Given the description of an element on the screen output the (x, y) to click on. 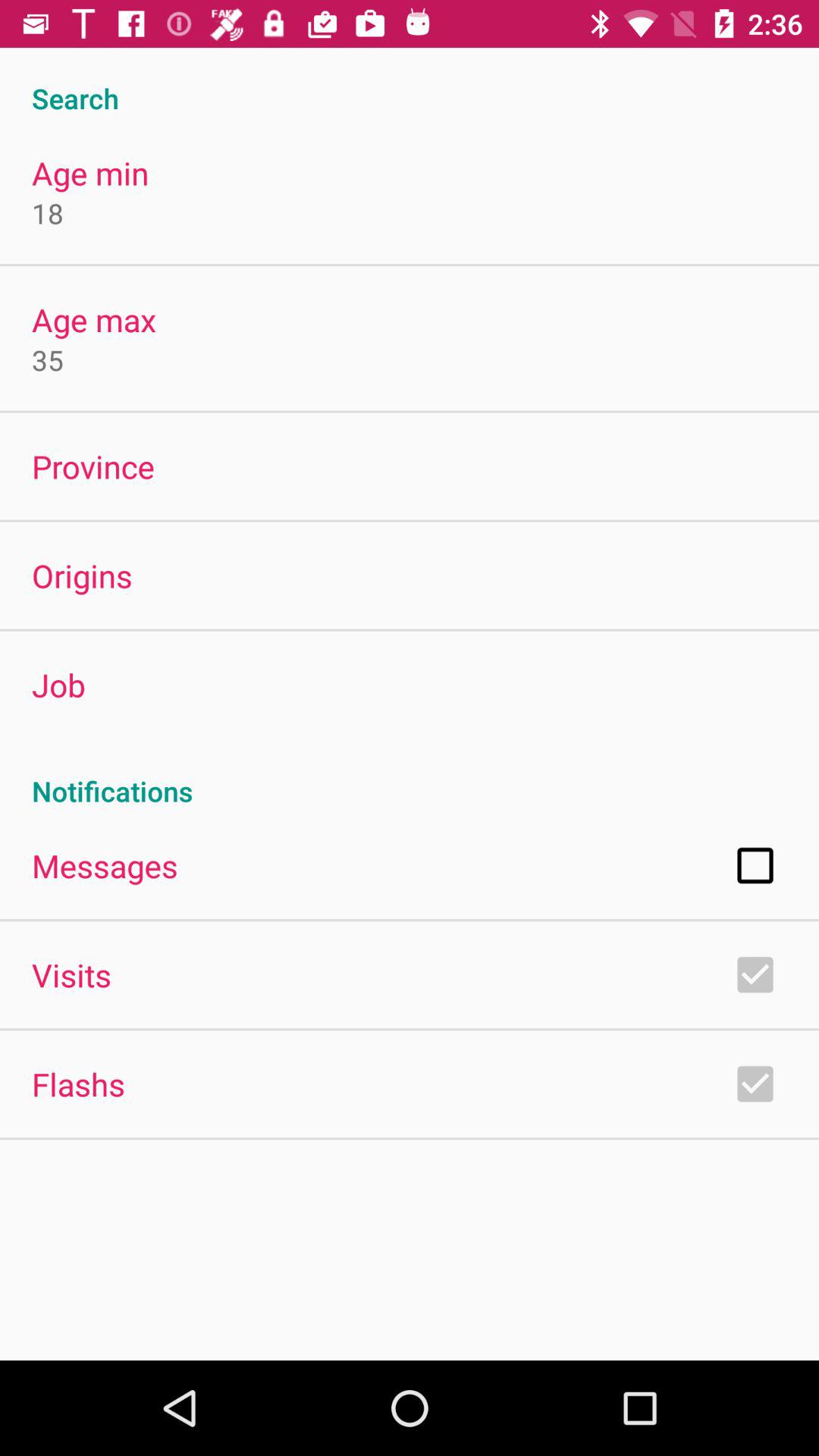
open the app above the notifications icon (58, 684)
